Given the description of an element on the screen output the (x, y) to click on. 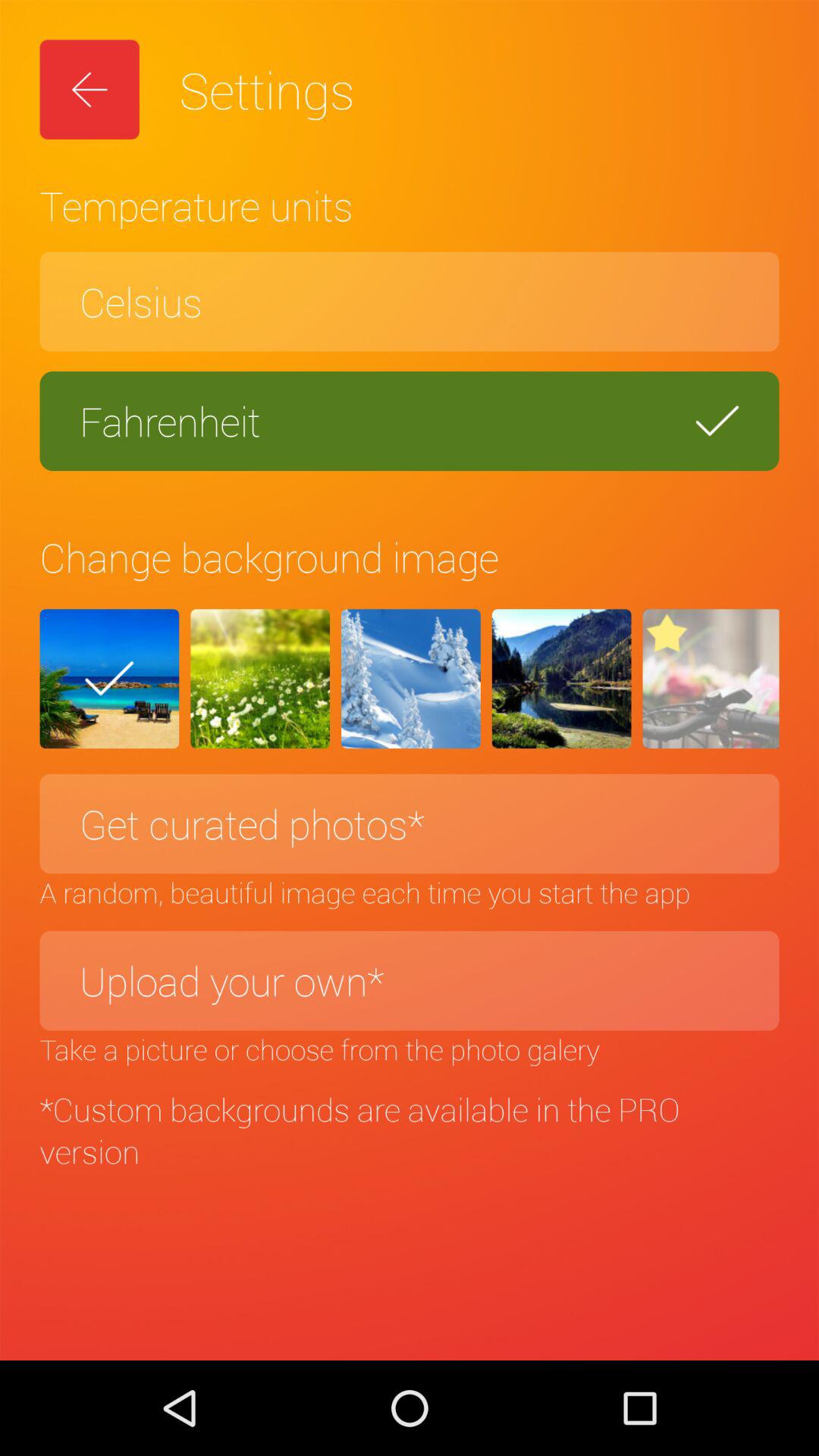
tap icon above change background image icon (409, 420)
